Given the description of an element on the screen output the (x, y) to click on. 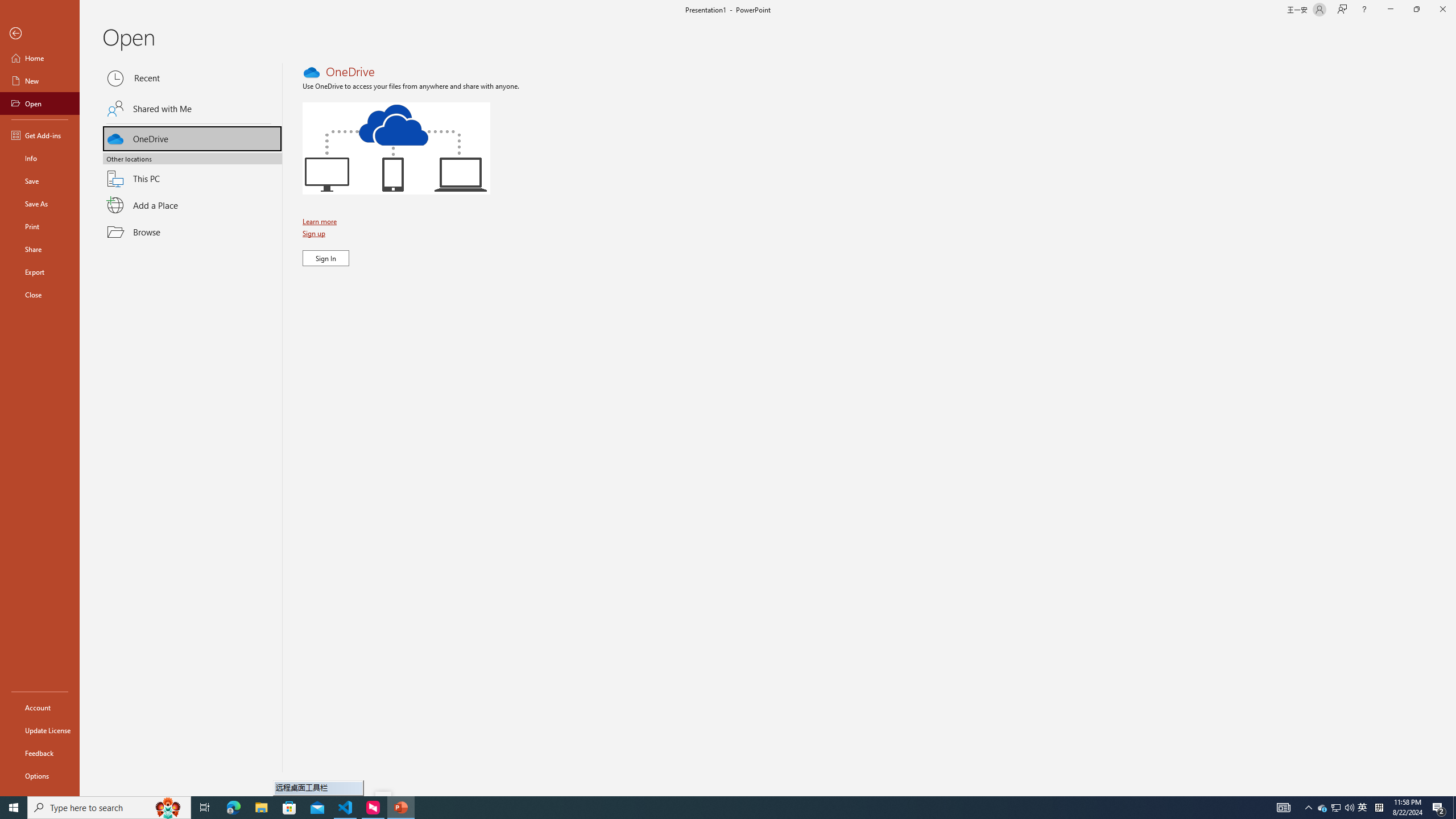
Update License (40, 730)
Options (40, 775)
Browse (192, 231)
New (40, 80)
Sign up (314, 233)
Save As (40, 203)
Recent (192, 78)
